Given the description of an element on the screen output the (x, y) to click on. 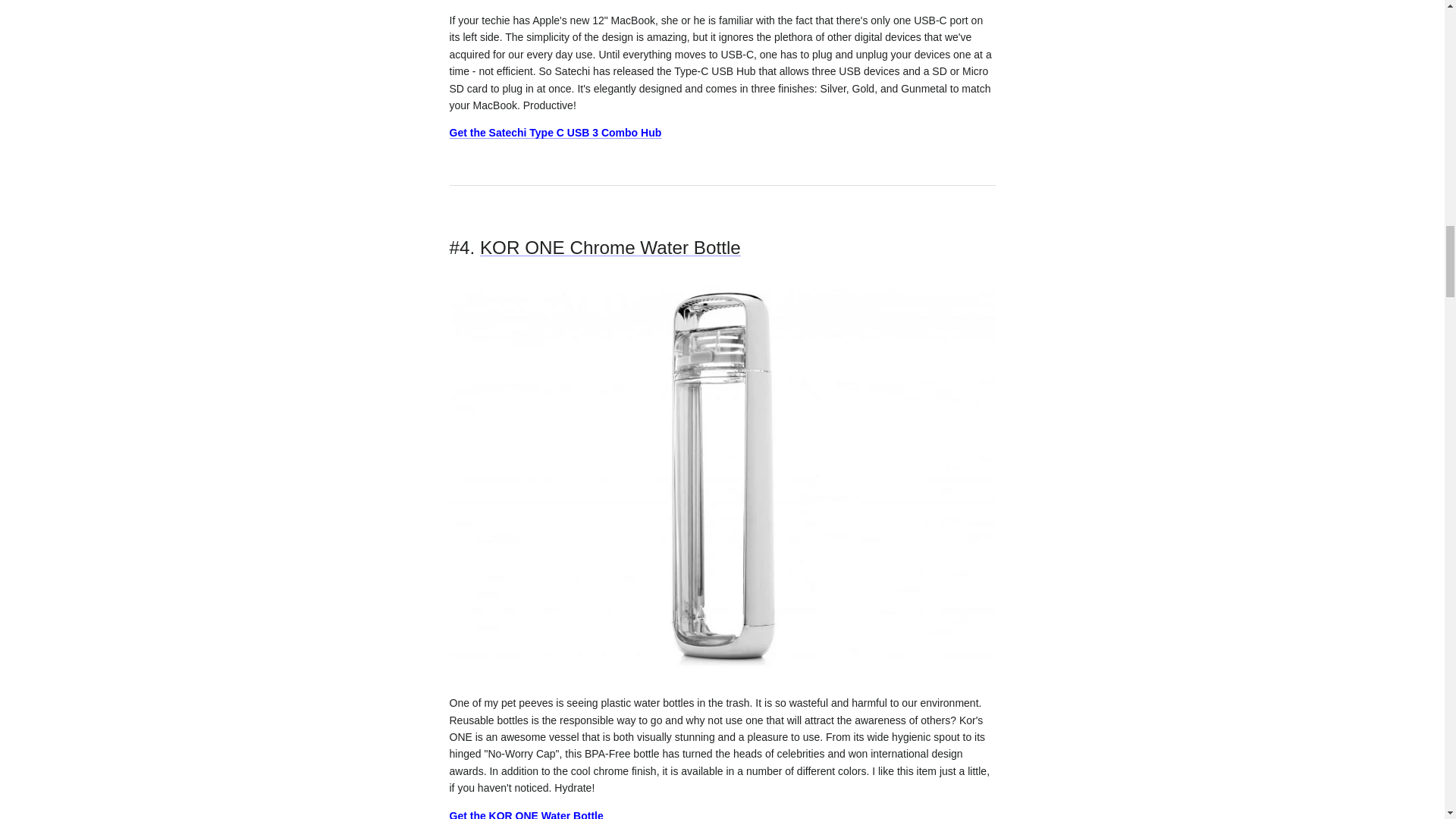
Satechi Type C Combo Hub for Macbook (554, 132)
KOR ONE Water Bottle (525, 814)
KOR ONE Chrome Water Bottle (610, 247)
